Given the description of an element on the screen output the (x, y) to click on. 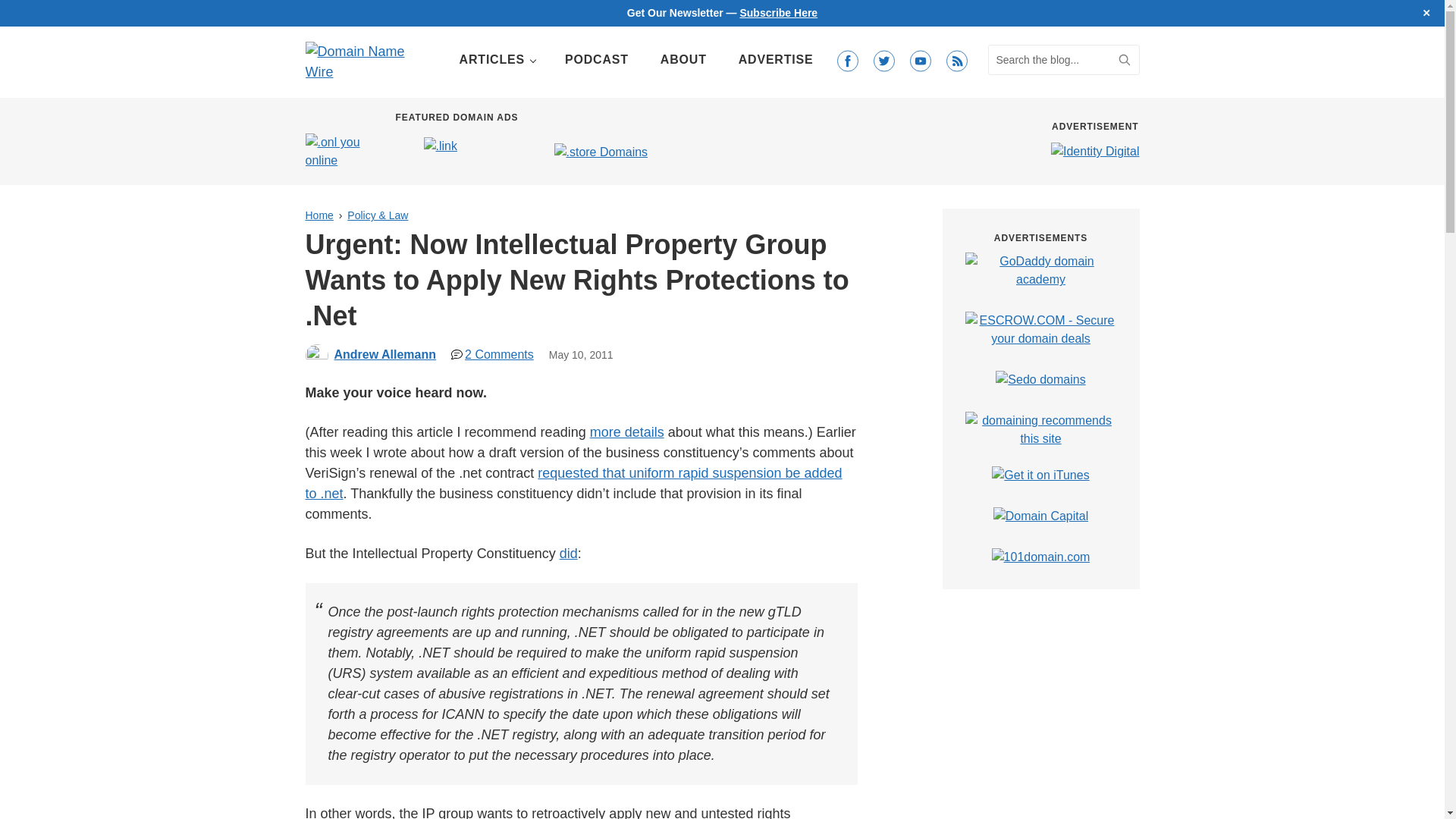
did (568, 553)
ADVERTISE (775, 60)
Subscribe Here (777, 12)
Home (318, 215)
more details (626, 432)
ABOUT (683, 60)
Submit search (1123, 60)
PODCAST (596, 60)
2 Comments (492, 354)
